Given the description of an element on the screen output the (x, y) to click on. 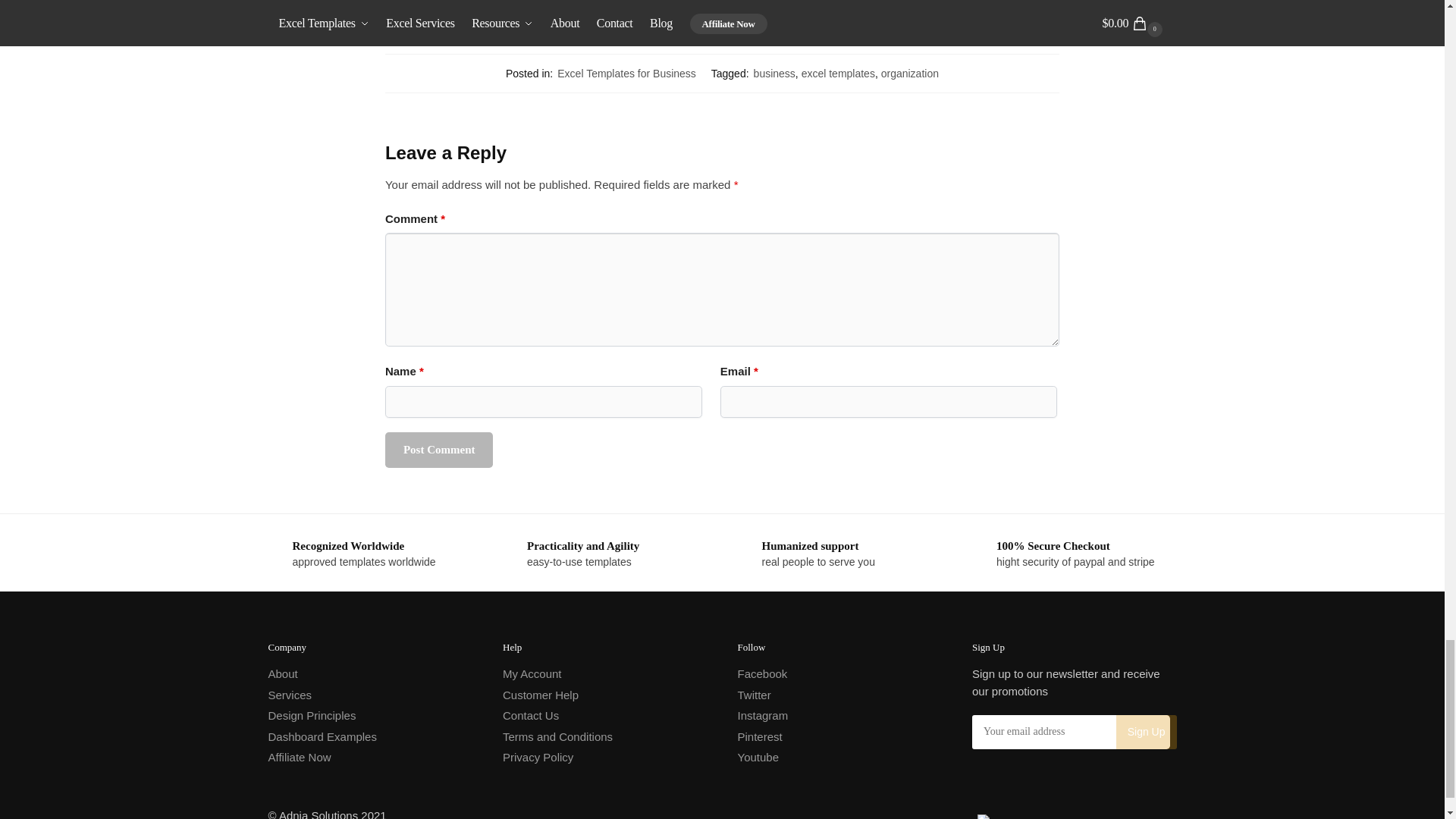
Sign up (1146, 731)
adnia solutions (1076, 816)
Post Comment (439, 449)
